Given the description of an element on the screen output the (x, y) to click on. 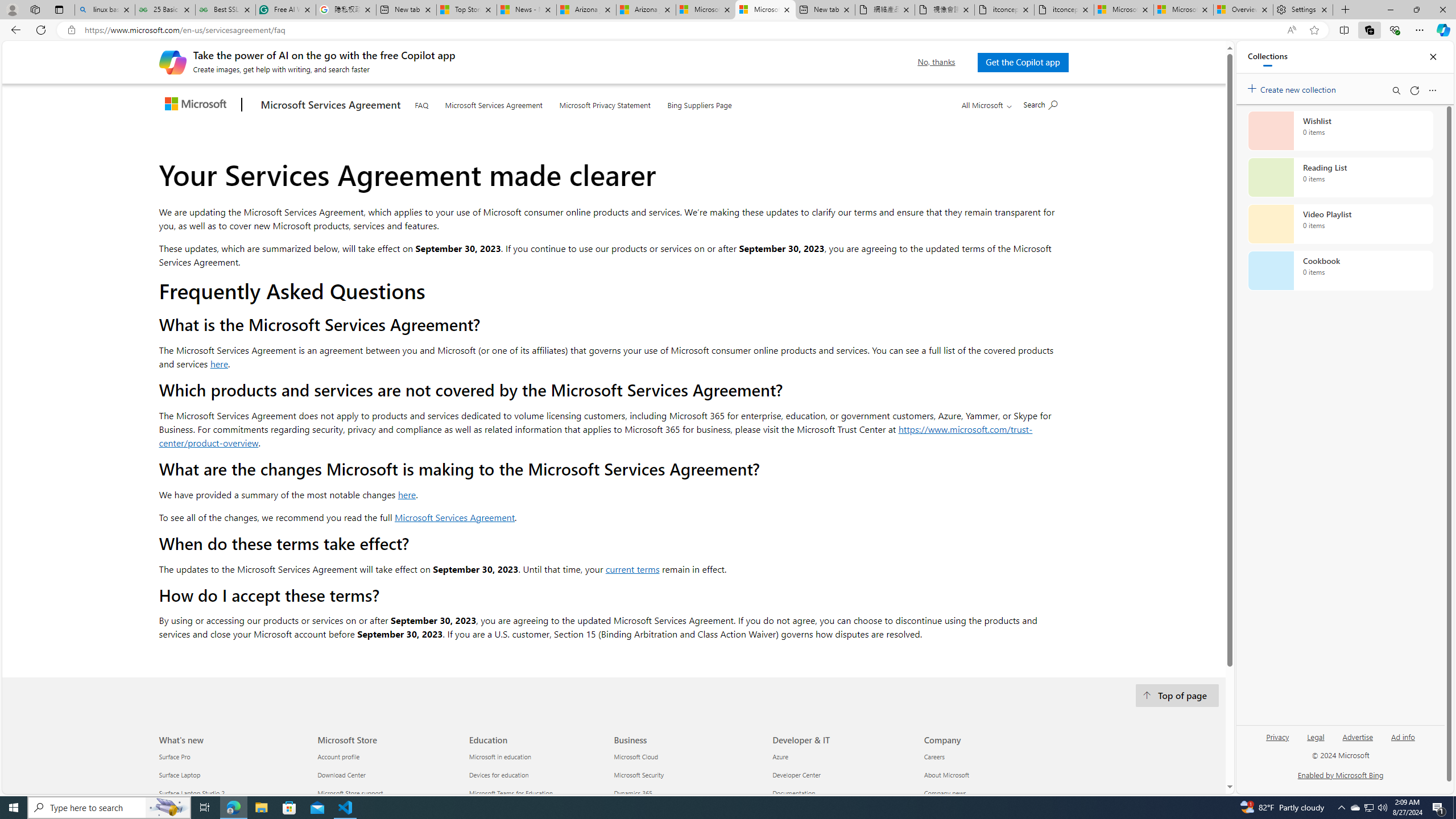
linux basic - Search (104, 9)
Dynamics 365 (685, 793)
Microsoft in education (537, 756)
Bing Suppliers Page (699, 103)
Surface Laptop Studio 2 (231, 793)
Developer Center Developer & IT (796, 774)
